Given the description of an element on the screen output the (x, y) to click on. 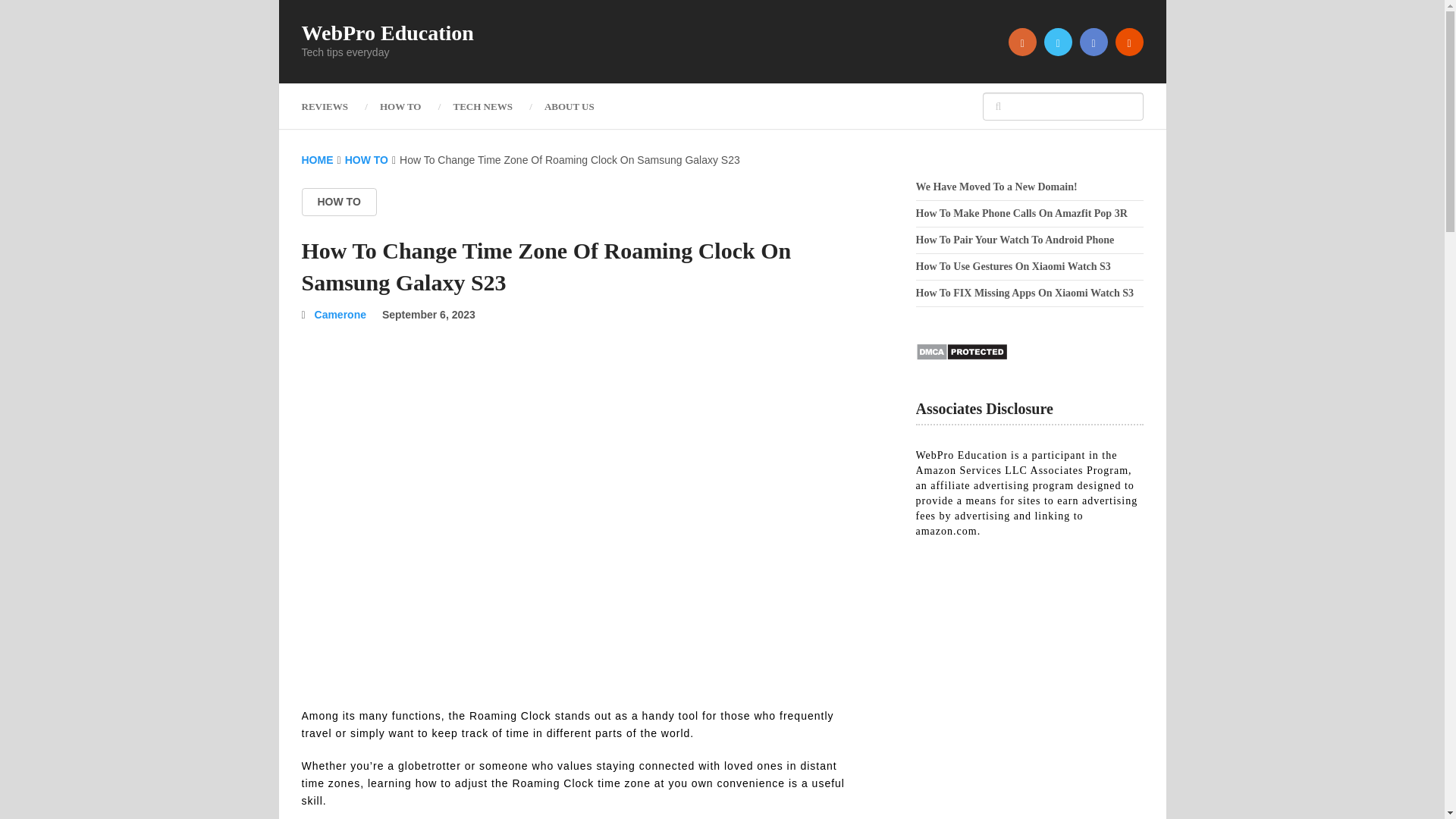
WebPro Education (387, 33)
How To Make Phone Calls On Amazfit Pop 3R (1020, 213)
How To Use Gestures On Xiaomi Watch S3 (1012, 266)
TECH NEWS (481, 105)
HOW TO (339, 202)
Posts by Camerone (340, 314)
How To FIX Missing Apps On Xiaomi Watch S3 (1024, 292)
We Have Moved To a New Domain! (996, 186)
HOW TO (401, 105)
Camerone (340, 314)
HOME (317, 159)
View all posts in how to (339, 202)
How To Pair Your Watch To Android Phone (1015, 239)
REVIEWS (332, 105)
